Given the description of an element on the screen output the (x, y) to click on. 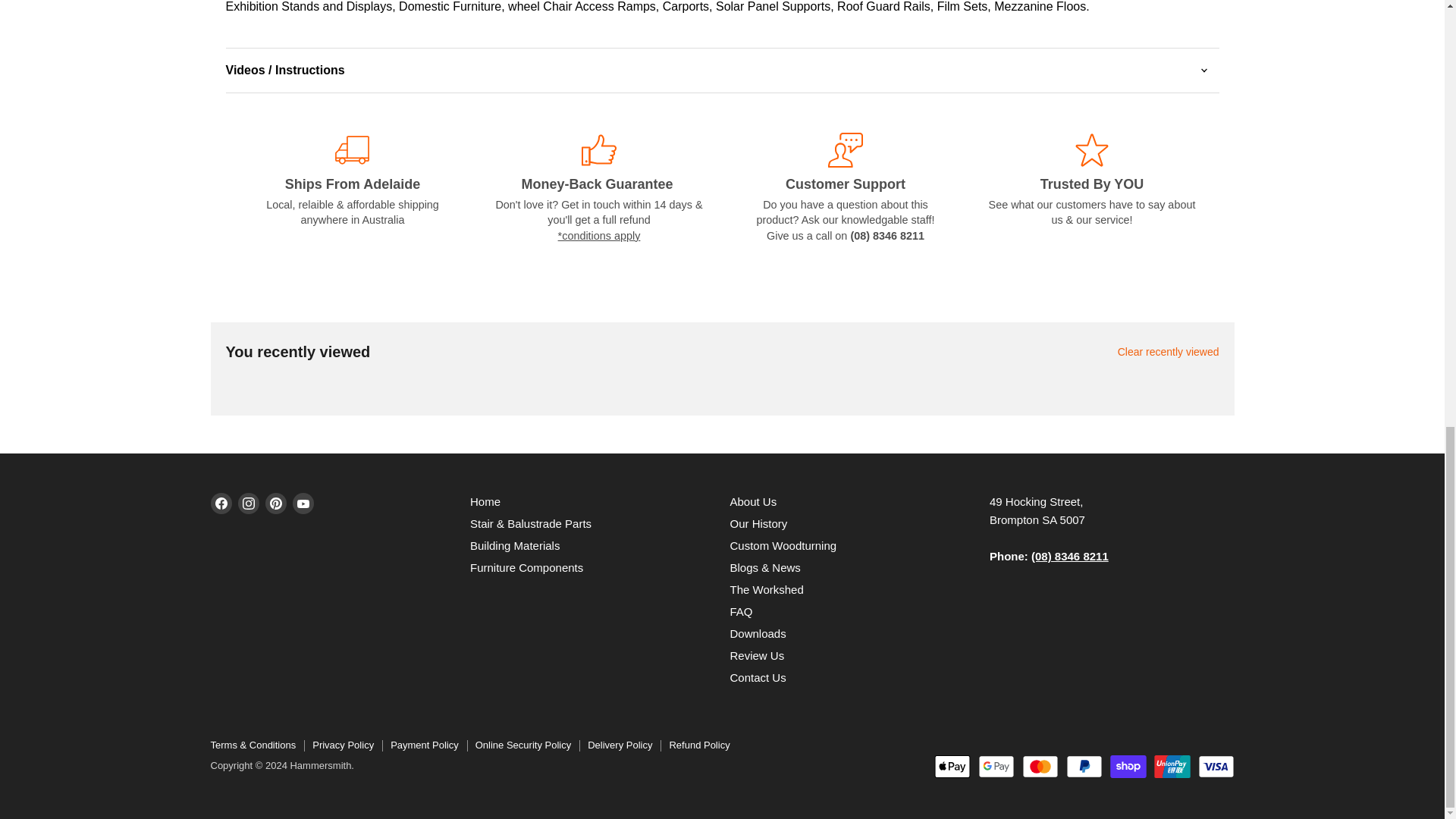
Refund Policy (598, 235)
Pinterest (275, 503)
Instagram (248, 503)
Facebook (221, 503)
tel:0883468211 (1069, 555)
YouTube (303, 503)
